Given the description of an element on the screen output the (x, y) to click on. 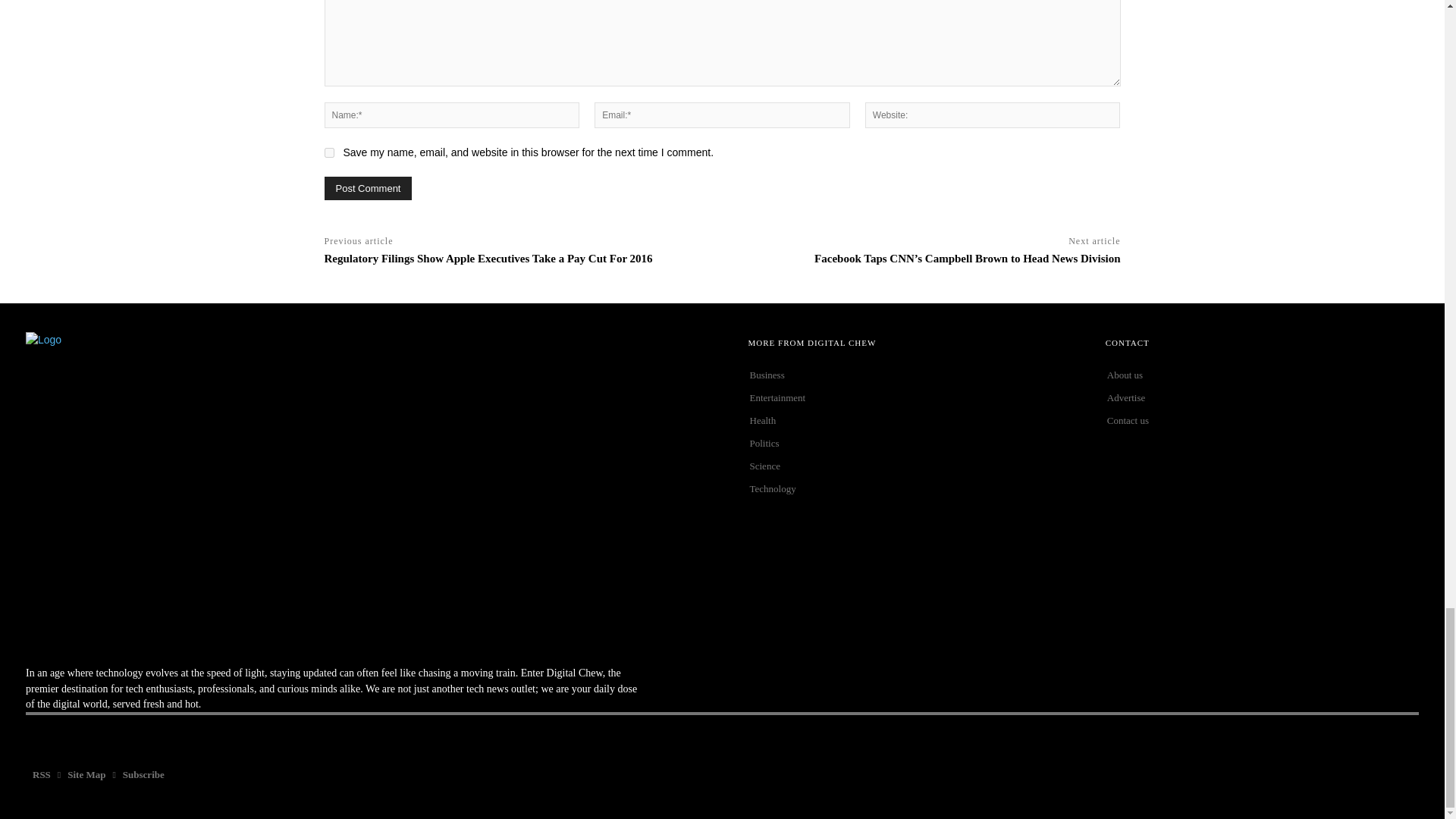
Contact us (1262, 420)
Health (905, 420)
Technology (905, 488)
Advertise (1262, 397)
yes (329, 153)
Post Comment (368, 187)
About us (1262, 374)
Business (905, 374)
Science (905, 466)
